Given the description of an element on the screen output the (x, y) to click on. 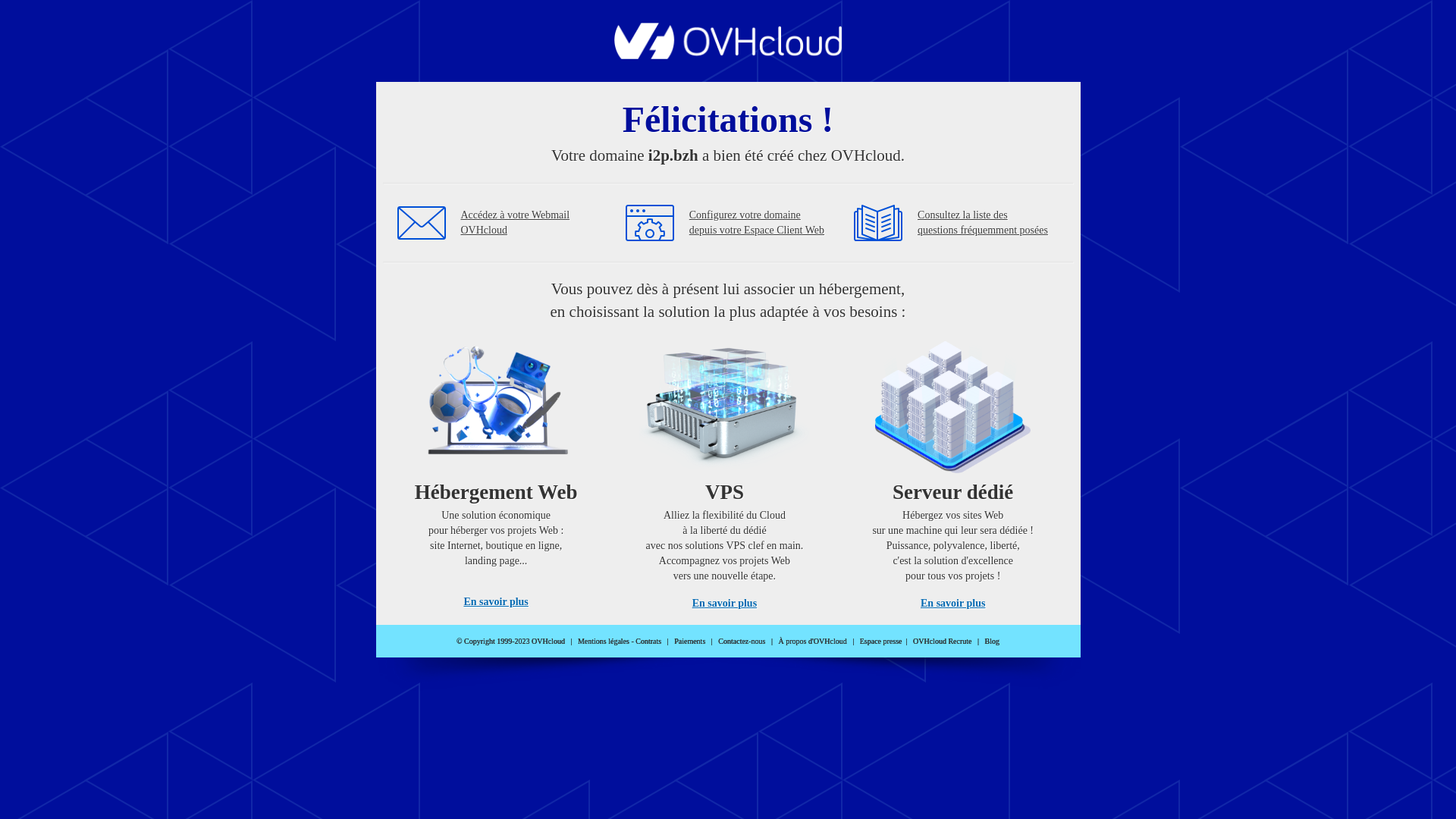
VPS Element type: hover (724, 469)
Paiements Element type: text (689, 641)
Configurez votre domaine
depuis votre Espace Client Web Element type: text (756, 222)
Blog Element type: text (992, 641)
Espace presse Element type: text (880, 641)
En savoir plus Element type: text (724, 602)
En savoir plus Element type: text (495, 601)
OVHcloud Element type: hover (727, 54)
En savoir plus Element type: text (952, 602)
Contactez-nous Element type: text (741, 641)
OVHcloud Recrute Element type: text (942, 641)
